Given the description of an element on the screen output the (x, y) to click on. 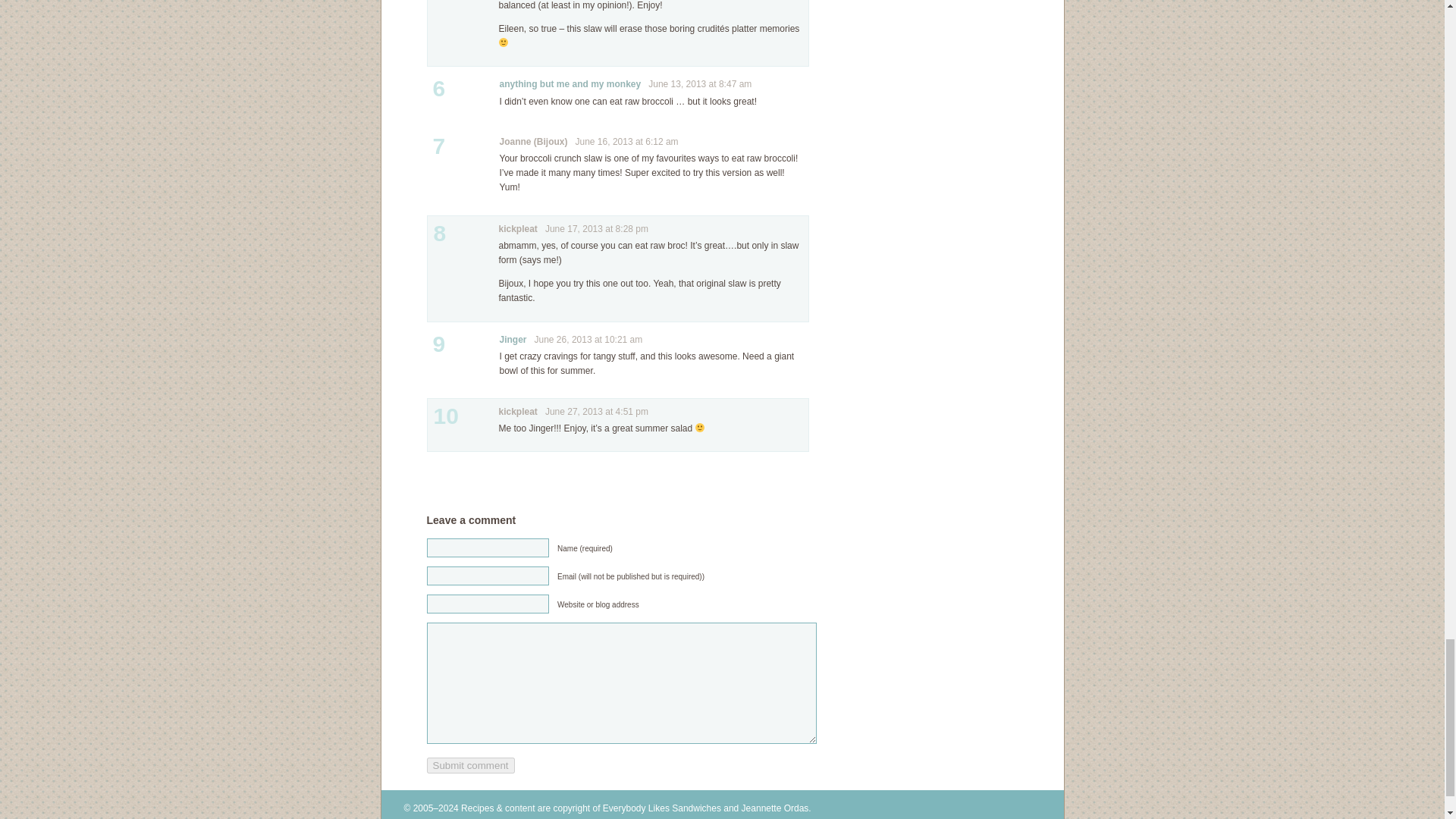
Submit comment (469, 765)
